Given the description of an element on the screen output the (x, y) to click on. 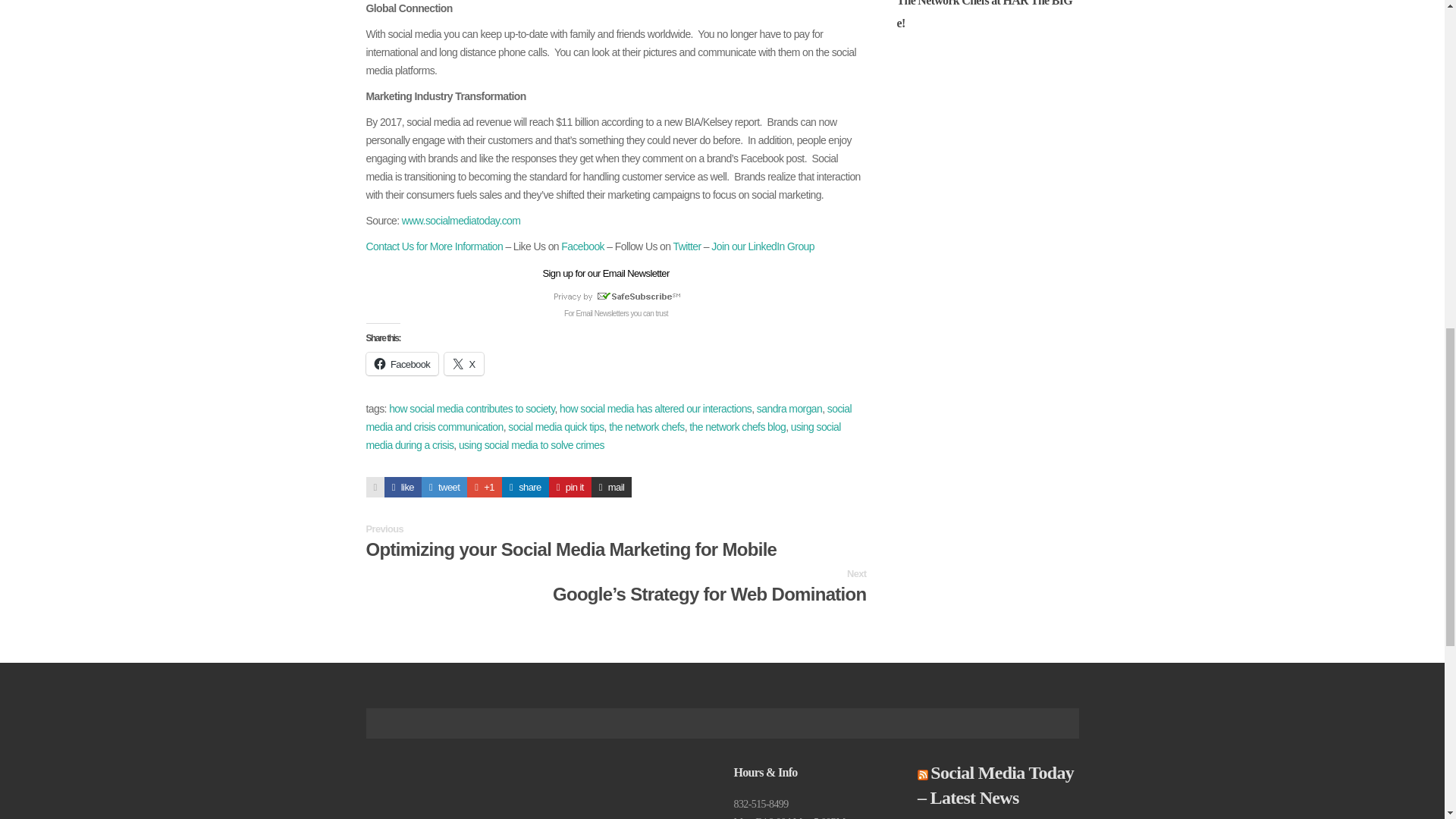
Contact Us for More Information (433, 246)
www.socialmediatoday.com (461, 220)
Click to share on Facebook (401, 363)
How Social Media Contributes to Society (525, 486)
How Social Media Contributes to Society (403, 486)
Click to share on X (463, 363)
Twitter (686, 246)
Facebook (582, 246)
How Social Media Contributes to Society (444, 486)
How Social Media Contributes to Society (484, 486)
